Given the description of an element on the screen output the (x, y) to click on. 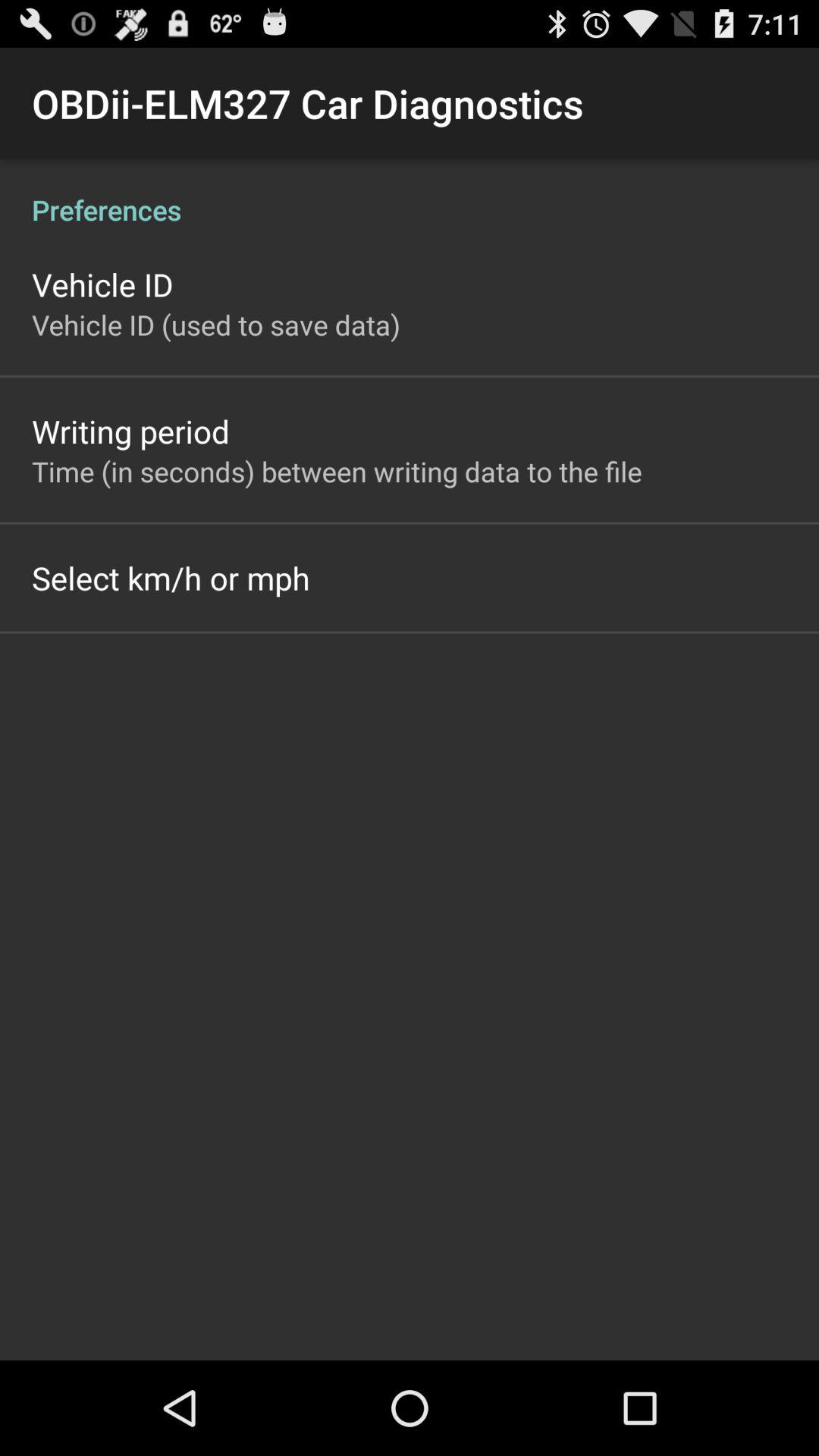
click the time in seconds icon (336, 471)
